Given the description of an element on the screen output the (x, y) to click on. 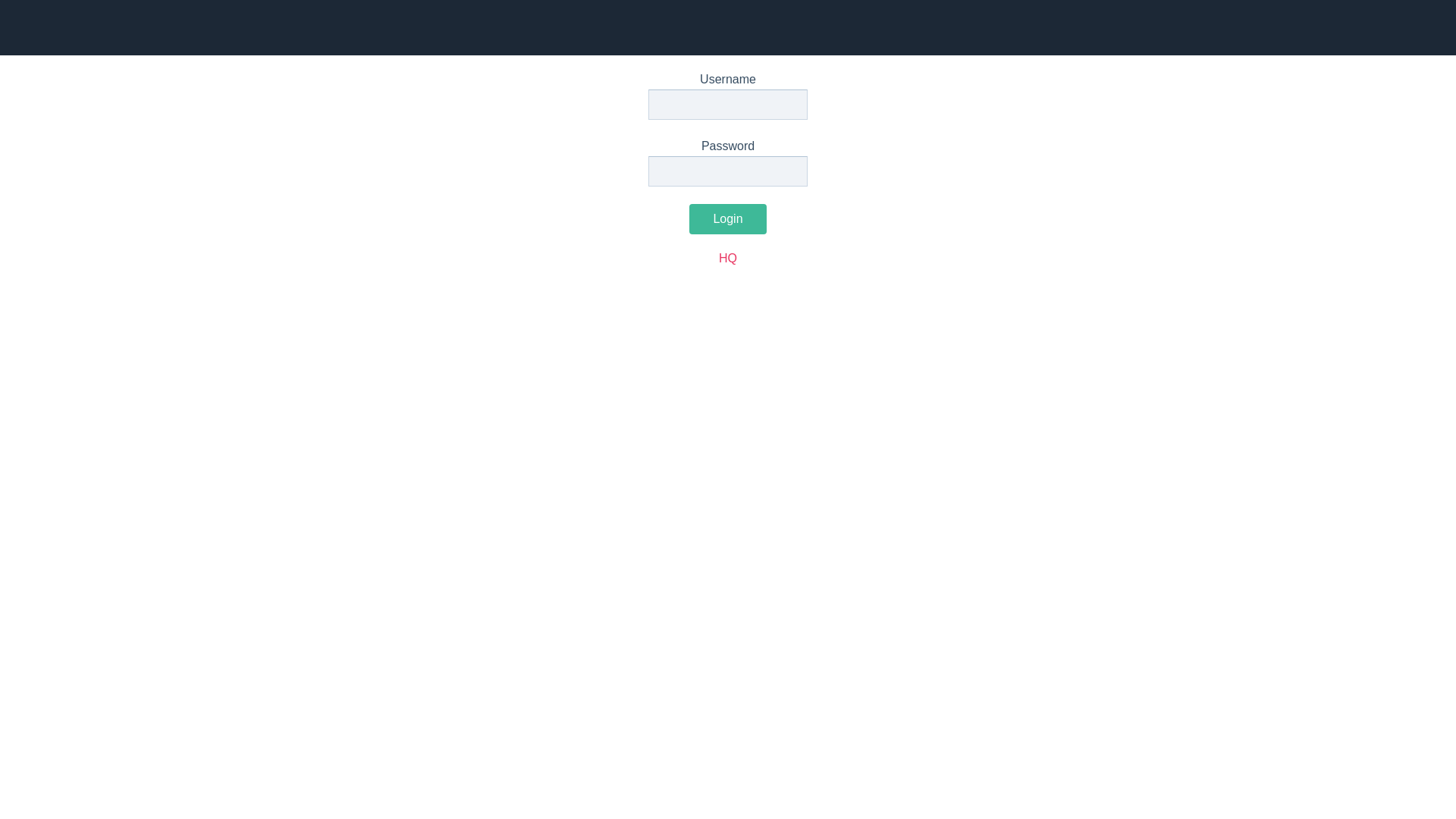
HQ Element type: text (727, 257)
Login Element type: text (727, 218)
